Given the description of an element on the screen output the (x, y) to click on. 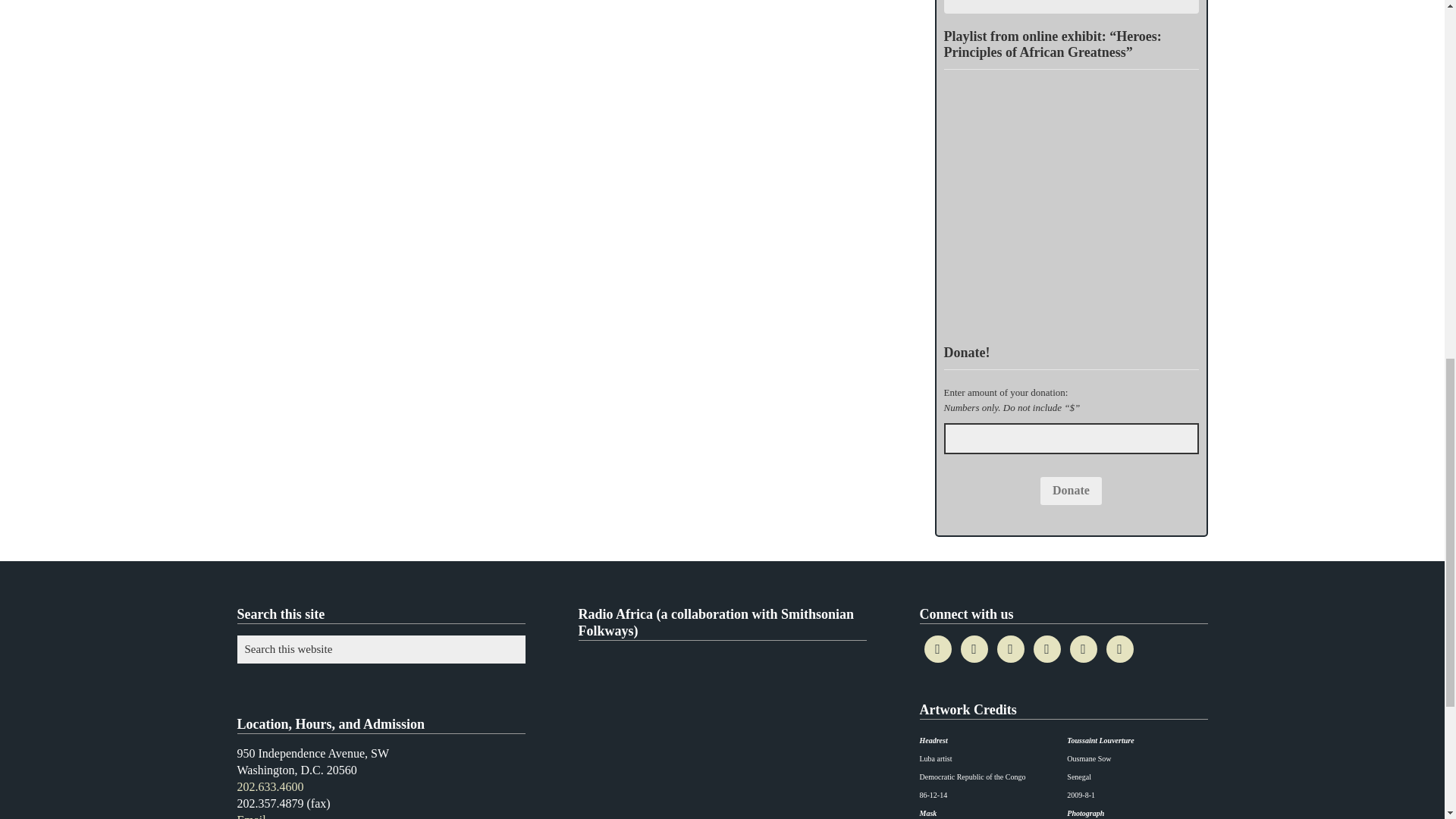
Donate (1071, 491)
